Given the description of an element on the screen output the (x, y) to click on. 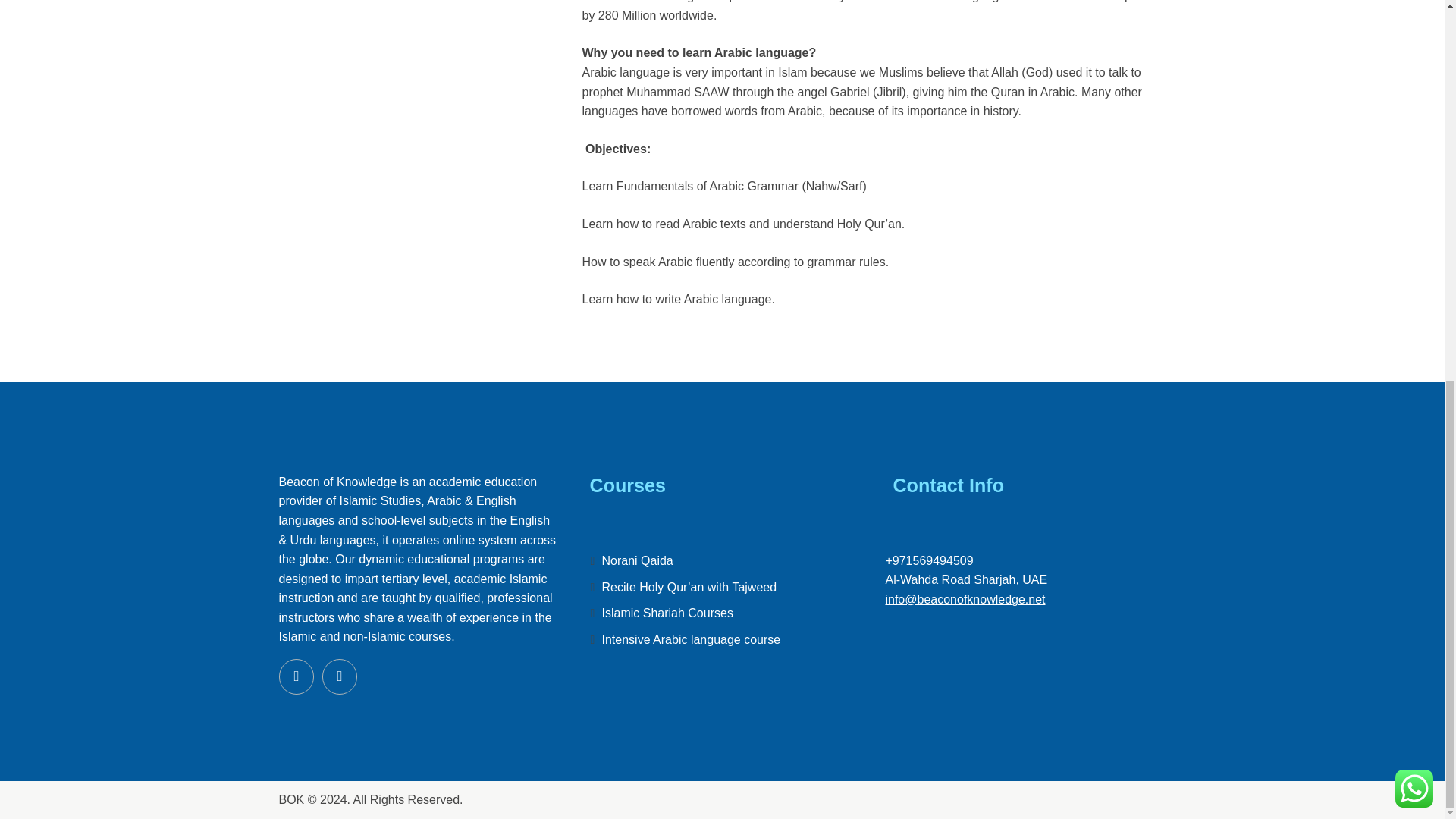
Intensive Arabic language course (690, 639)
Norani Qaida (636, 560)
Islamic Shariah Courses (666, 612)
BOK (291, 799)
